Given the description of an element on the screen output the (x, y) to click on. 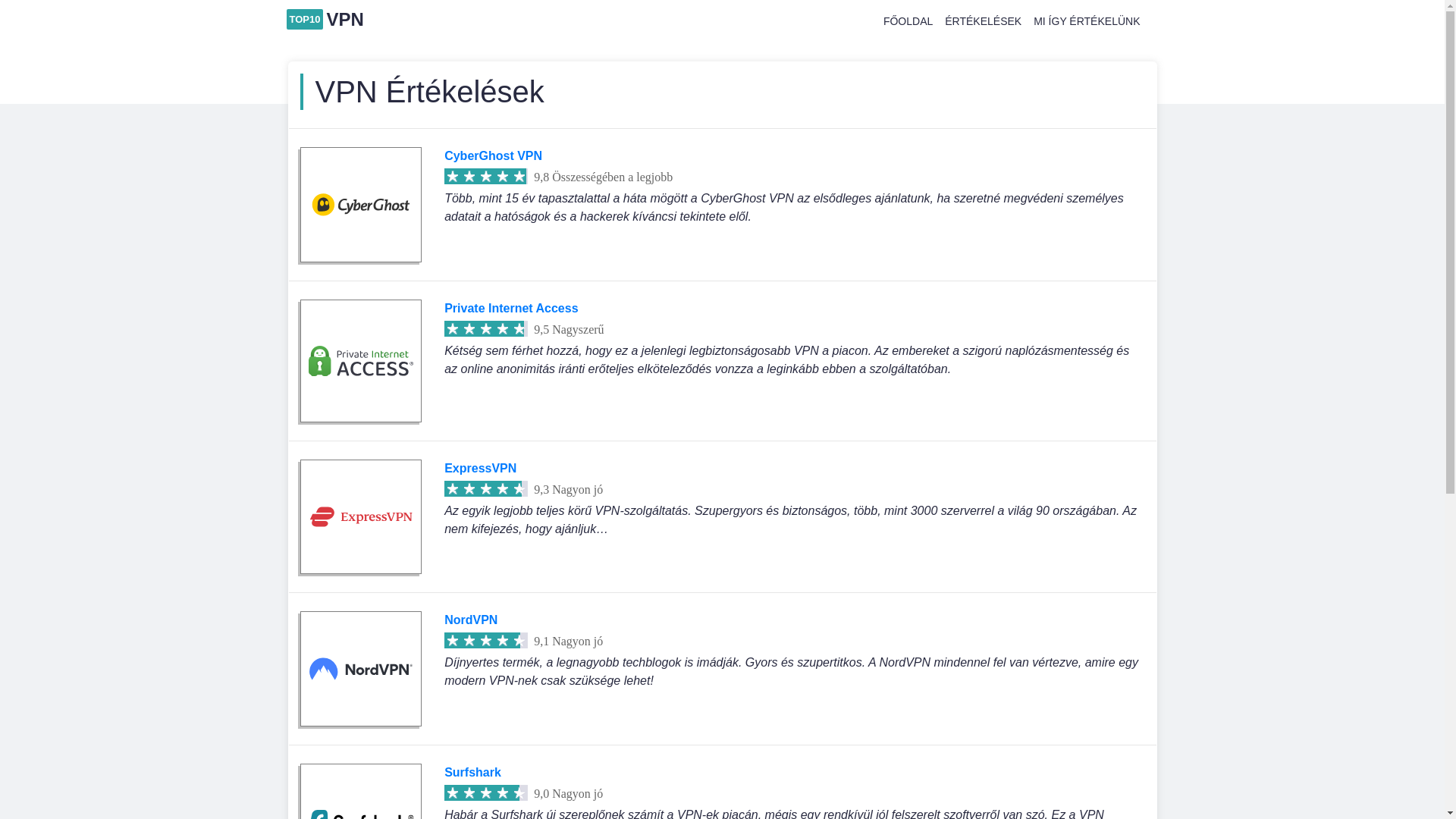
ExpressVPN Element type: text (480, 467)
CyberGhost VPN Element type: hover (361, 204)
Surfshark Element type: text (472, 771)
ExpressVPN Element type: hover (361, 516)
Private Internet Access Element type: hover (361, 360)
CyberGhost VPN Element type: text (493, 155)
Private Internet Access Element type: text (510, 307)
NordVPN Element type: hover (361, 668)
NordVPN Element type: text (470, 619)
